Given the description of an element on the screen output the (x, y) to click on. 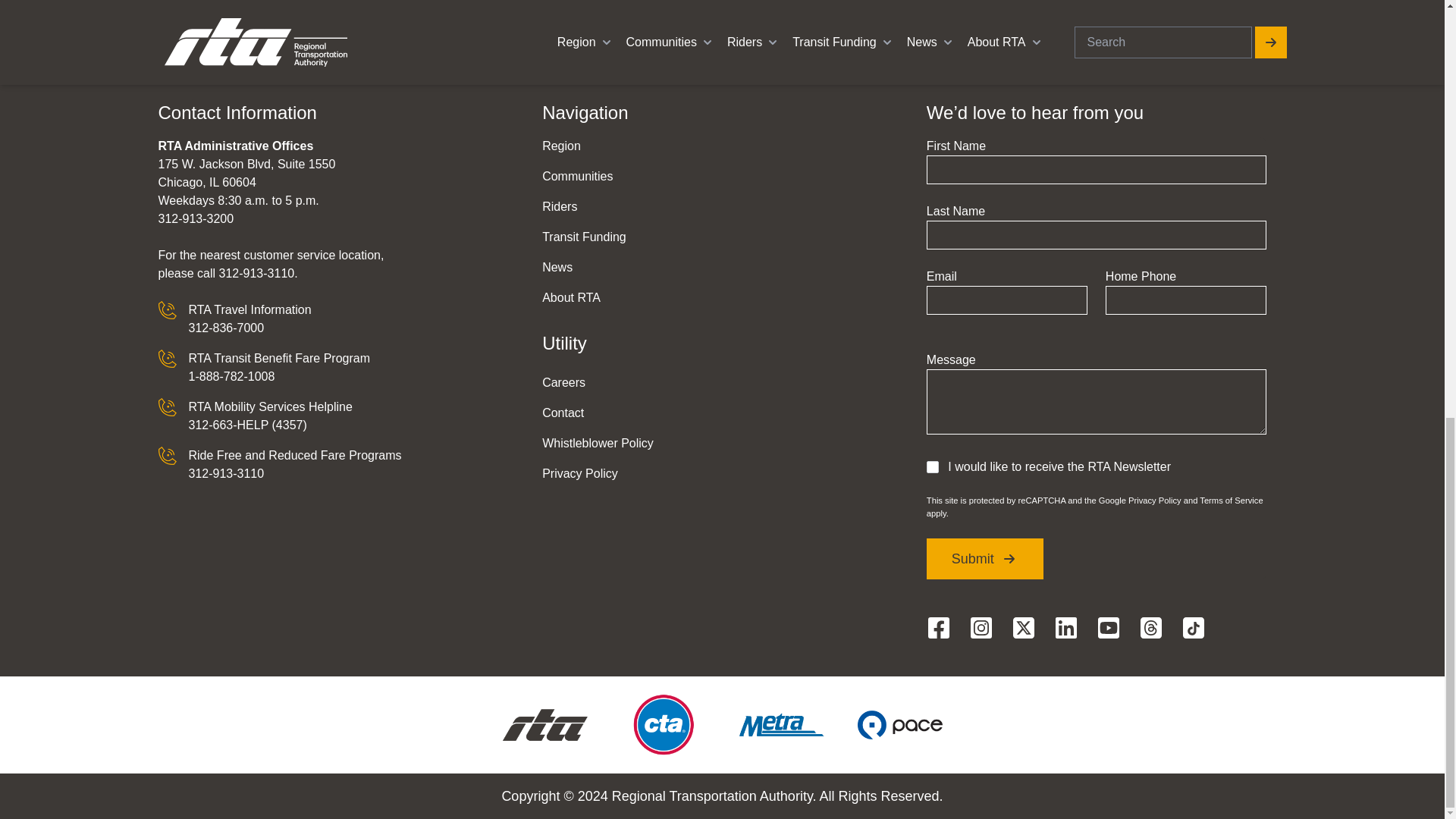
on (932, 467)
